Given the description of an element on the screen output the (x, y) to click on. 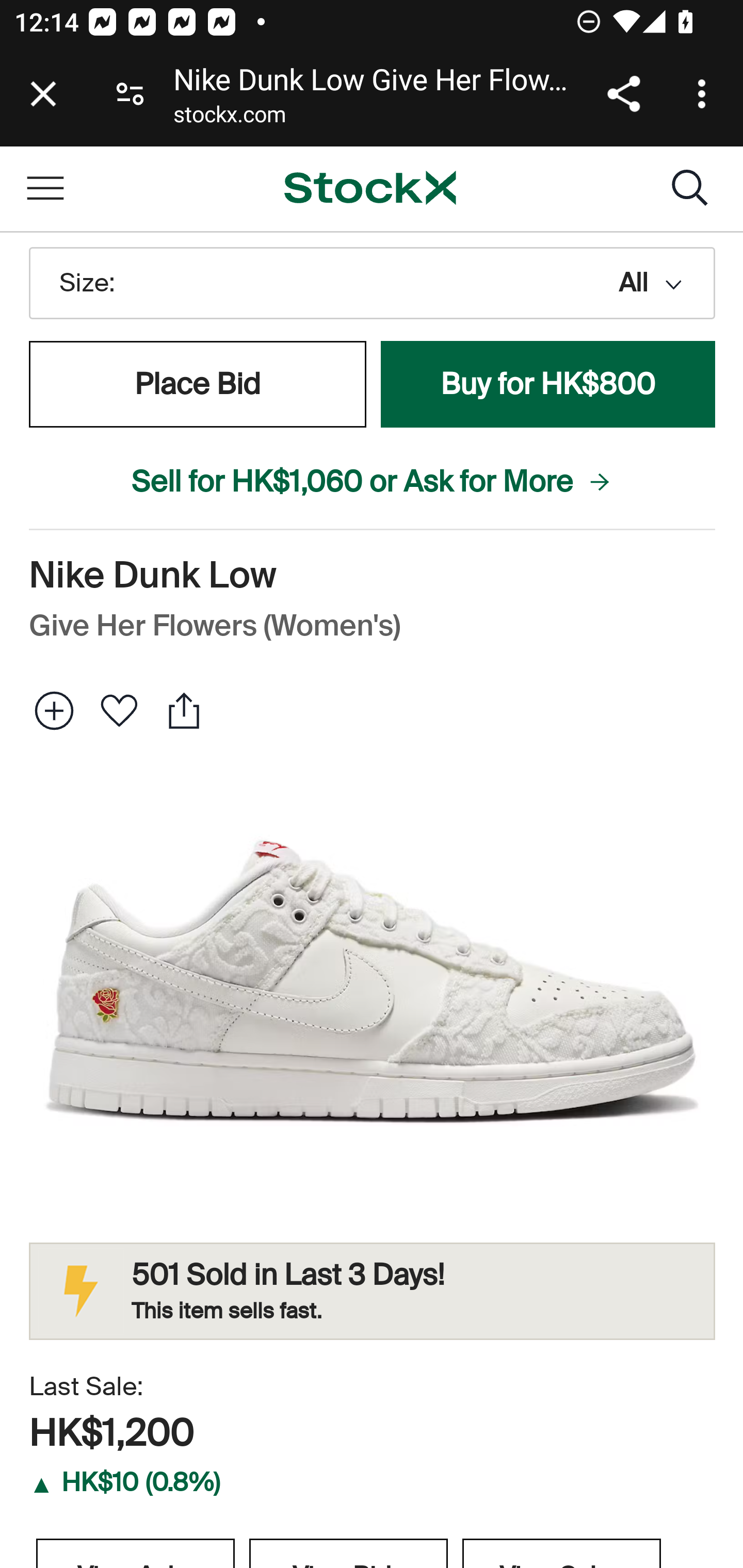
Close tab (43, 93)
Share link address (623, 93)
Customize and control Google Chrome (705, 93)
Connection is secure (129, 93)
stockx.com (229, 117)
